Given the description of an element on the screen output the (x, y) to click on. 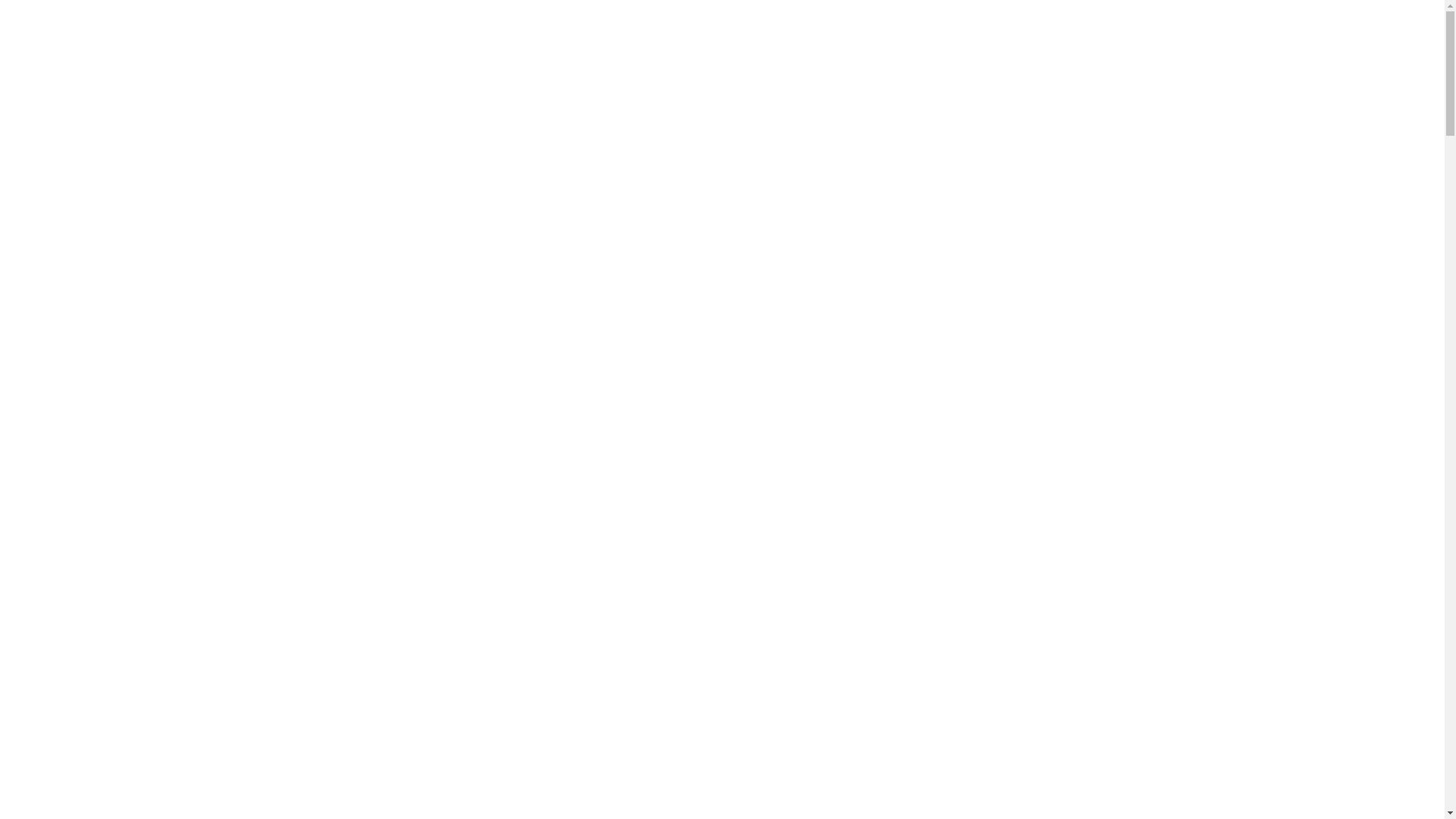
PORTFOLIO Element type: text (983, 30)
DIENSTLEISTUNGEN Element type: text (1096, 30)
info@architektur-gestaltung.ch Element type: text (998, 732)
KONTAKT Element type: text (1267, 30)
HOME Element type: text (823, 30)
NEWS Element type: text (1195, 30)
Anmelden Element type: text (653, 691)
